Given the description of an element on the screen output the (x, y) to click on. 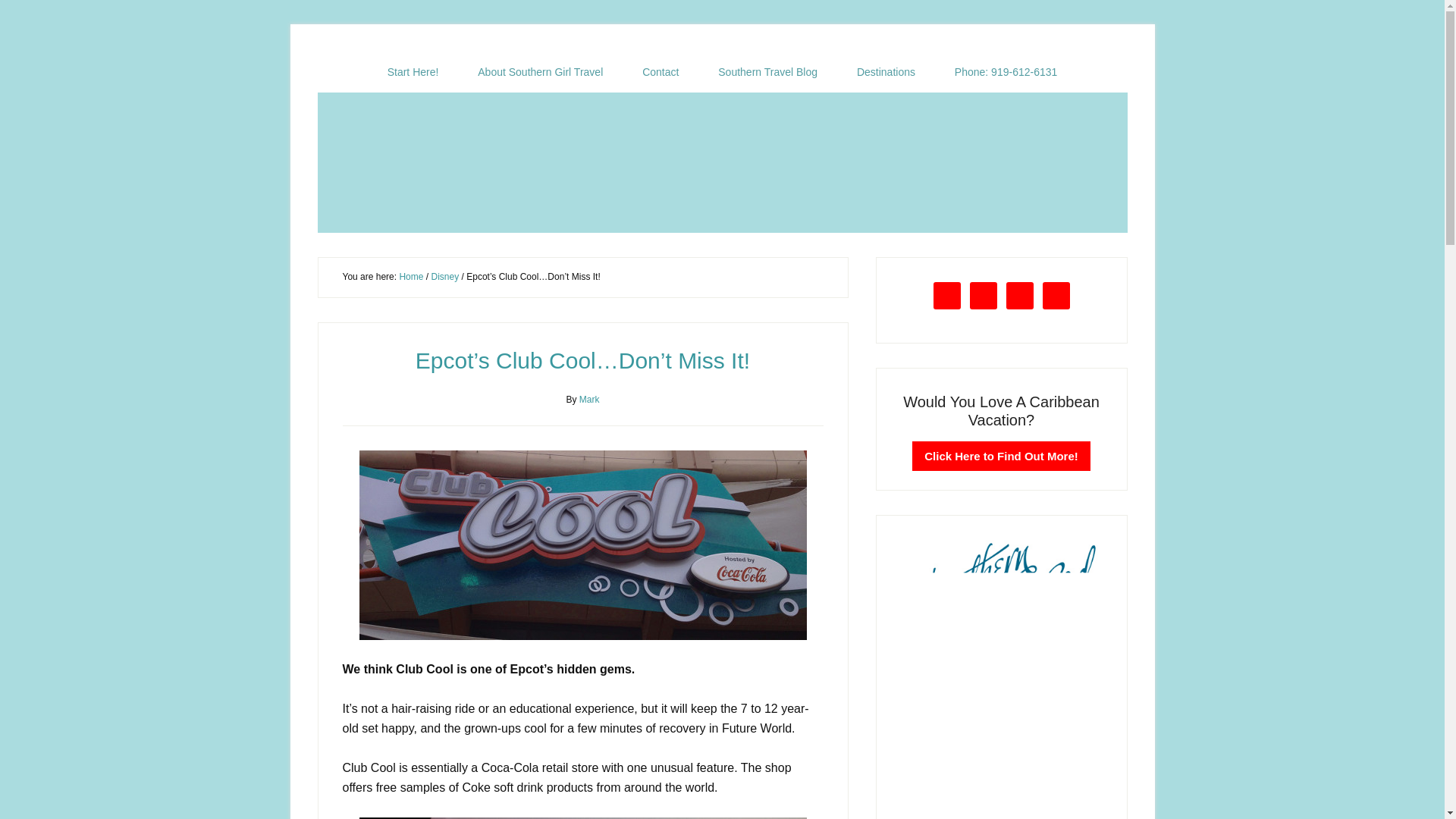
Southern Travel Blog (767, 71)
Contact (660, 71)
Mark (589, 398)
Destinations (885, 71)
Start Here! (413, 71)
Click Here to Find Out More! (1001, 455)
Home (410, 276)
Disney (444, 276)
Phone: 919-612-6131 (1005, 71)
Southern Girl Travel (721, 162)
About Southern Girl Travel (540, 71)
